Given the description of an element on the screen output the (x, y) to click on. 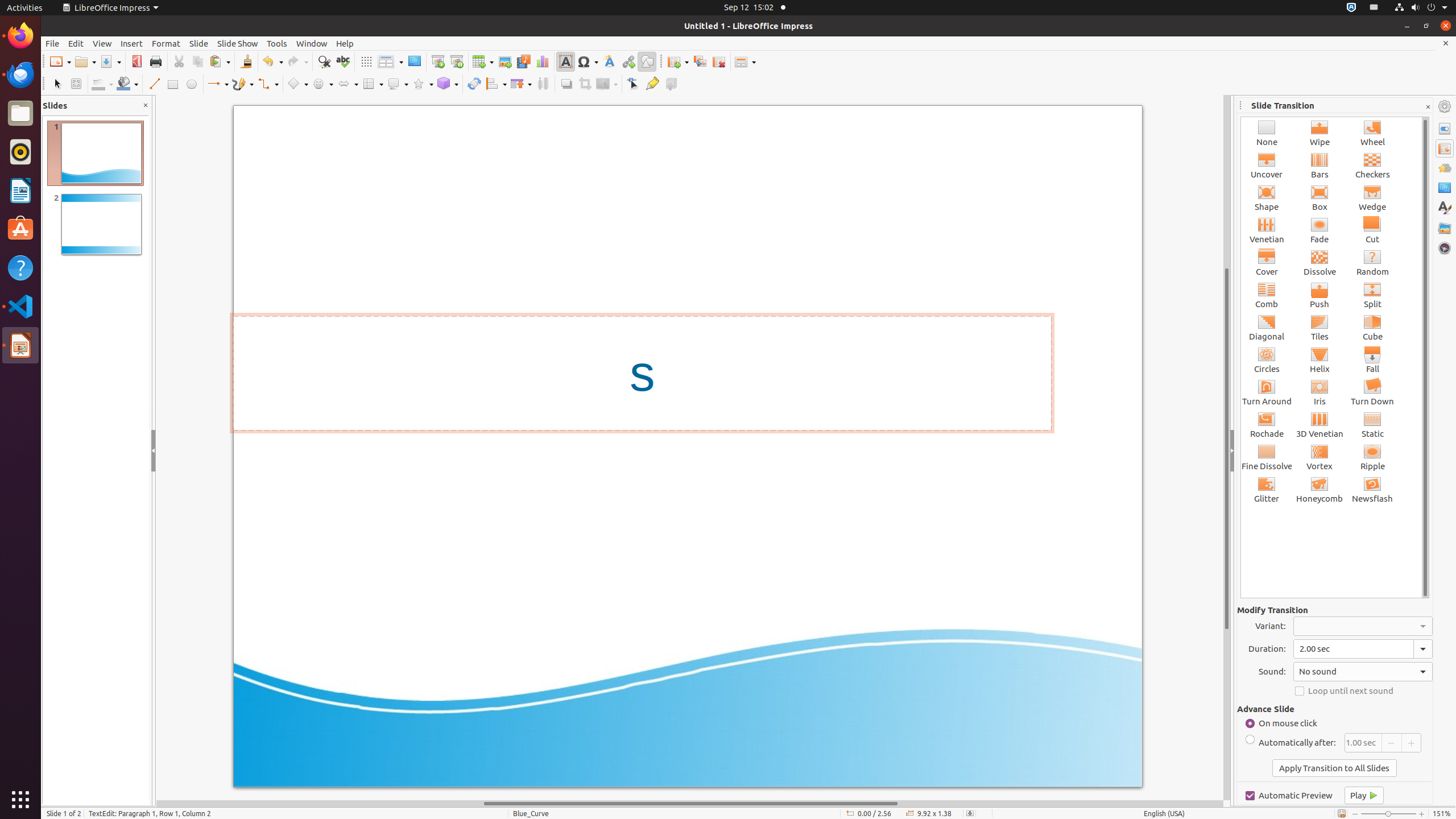
Bars Element type: list-item (1319, 164)
